Given the description of an element on the screen output the (x, y) to click on. 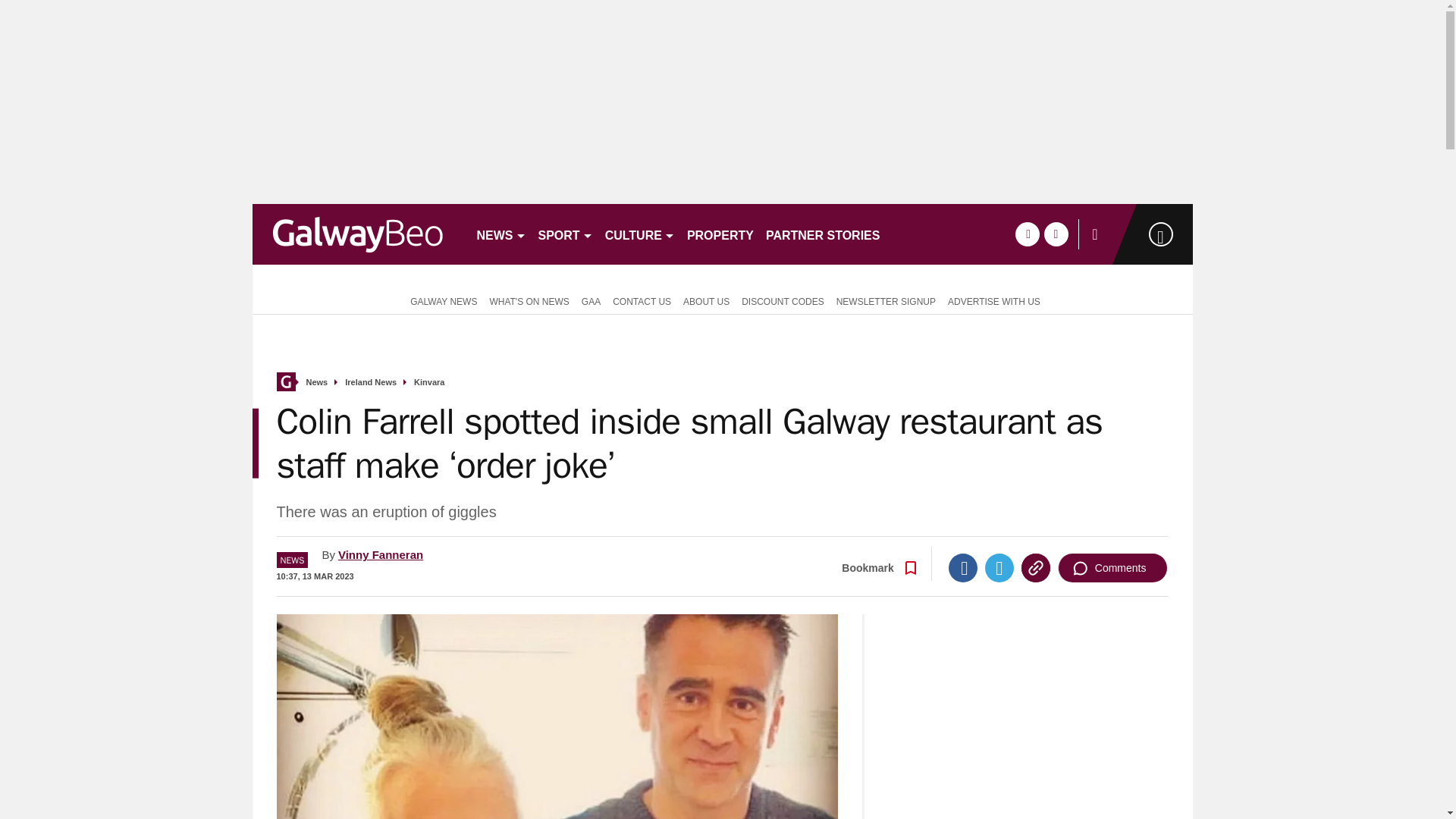
ADVERTISE WITH US (994, 300)
Kinvara (428, 382)
PROPERTY (720, 233)
GALWAY NEWS (440, 300)
facebook (1026, 233)
NEWS (500, 233)
News (317, 382)
twitter (1055, 233)
Twitter (999, 567)
DISCOUNT CODES (782, 300)
